Given the description of an element on the screen output the (x, y) to click on. 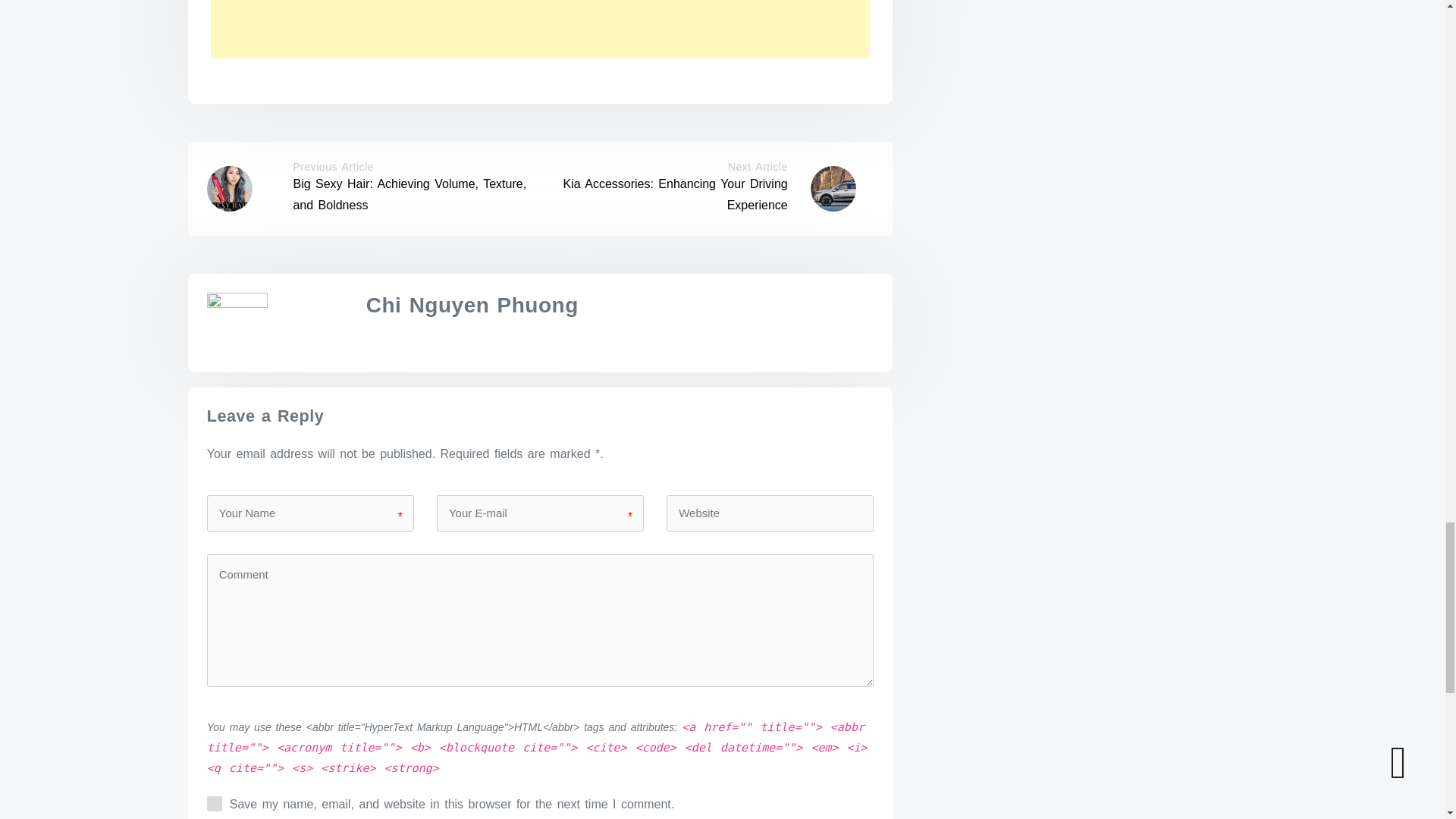
Advertisement (540, 29)
yes (214, 803)
Big Sexy Hair: Achieving Volume, Texture, and Boldness (408, 194)
Kia Accessories: Enhancing Your Driving Experience (675, 194)
